Given the description of an element on the screen output the (x, y) to click on. 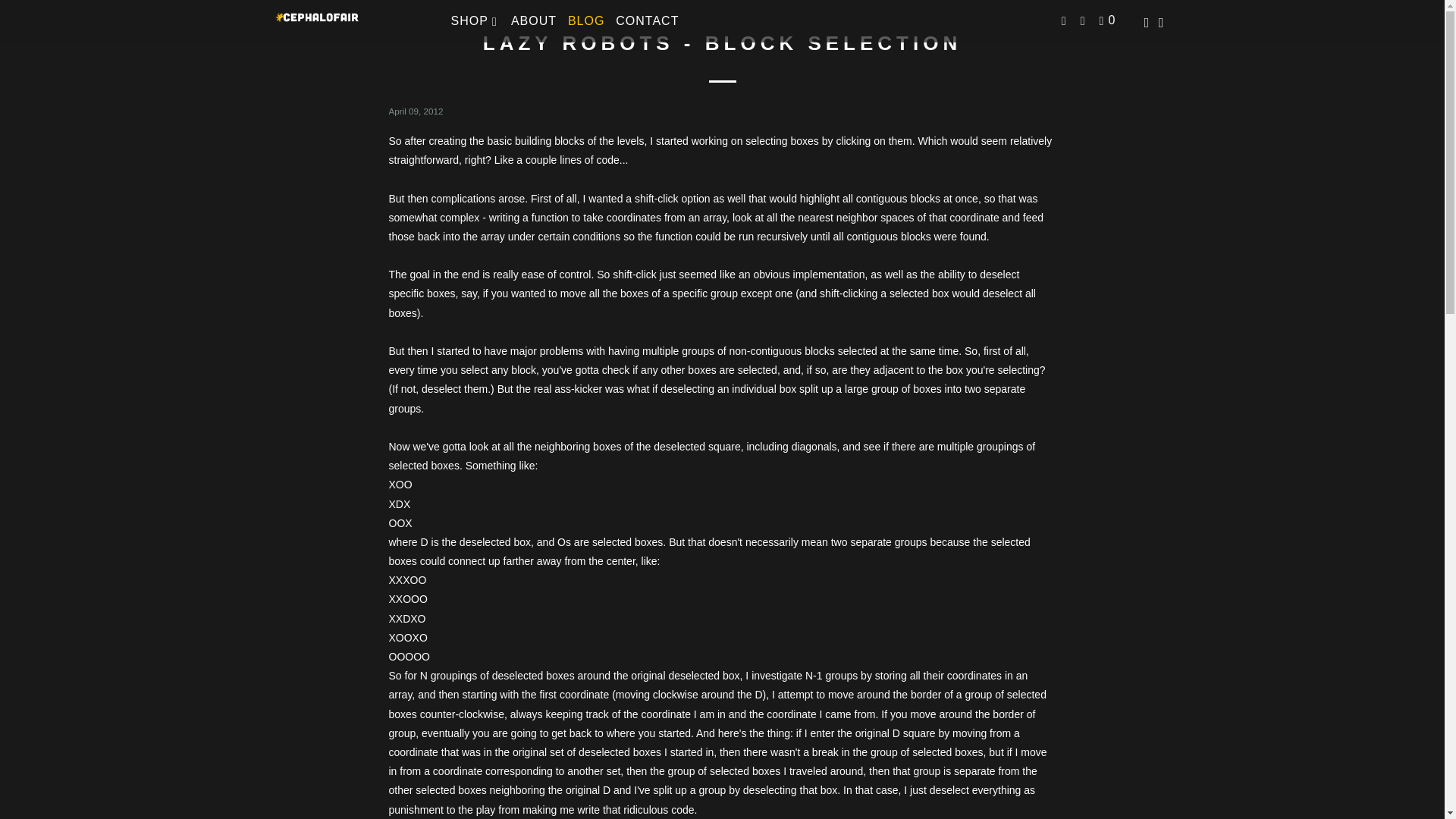
0 (1109, 21)
Cephalofair (352, 21)
CONTACT (646, 21)
BLOG (585, 21)
SHOP (474, 21)
ABOUT (533, 21)
